Given the description of an element on the screen output the (x, y) to click on. 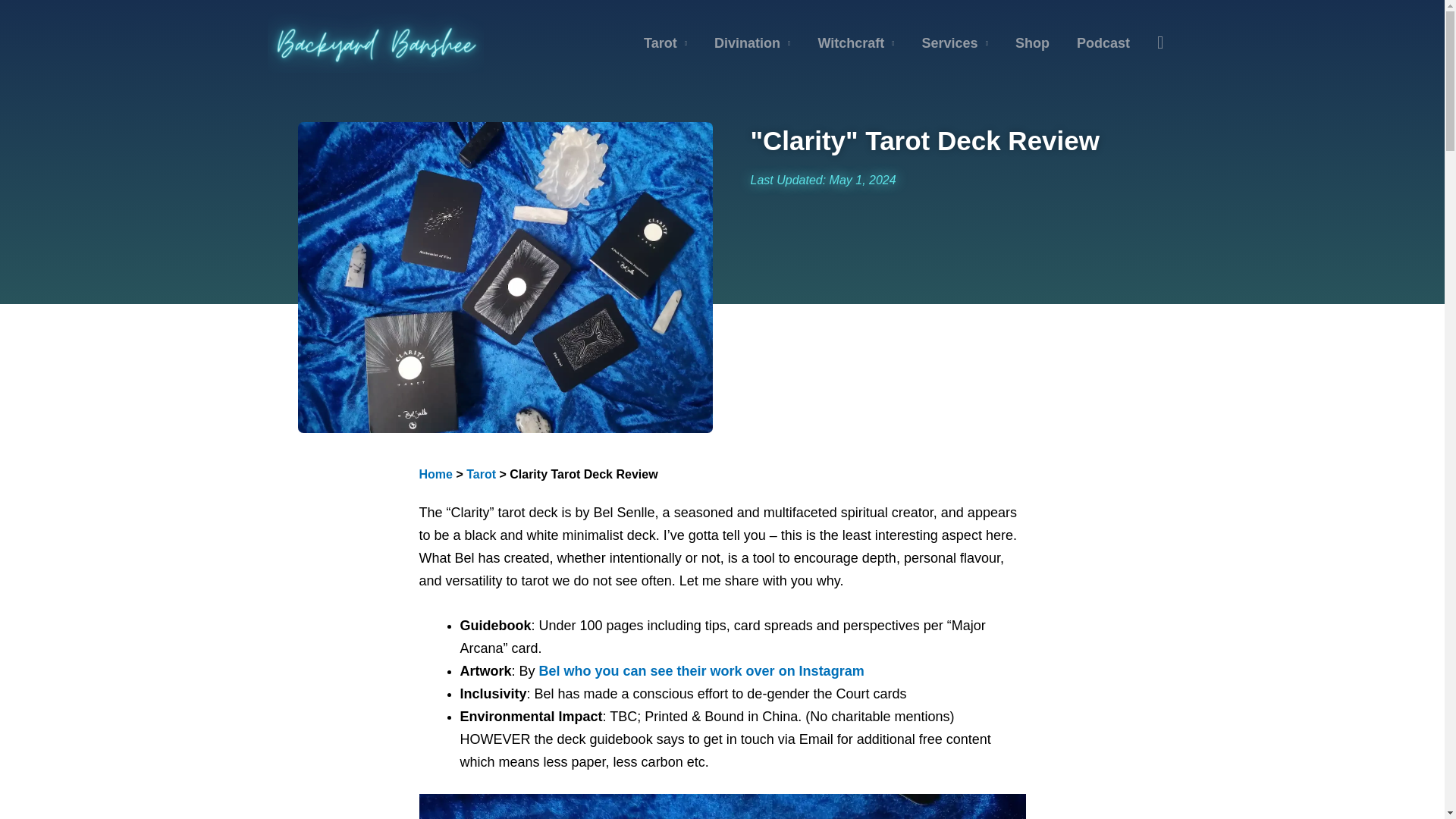
Podcast (1102, 43)
Bel who you can see their work over on Instagra (694, 670)
Divination (751, 43)
Tarot (480, 473)
Witchcraft (855, 43)
Home (435, 473)
Services (954, 43)
